Given the description of an element on the screen output the (x, y) to click on. 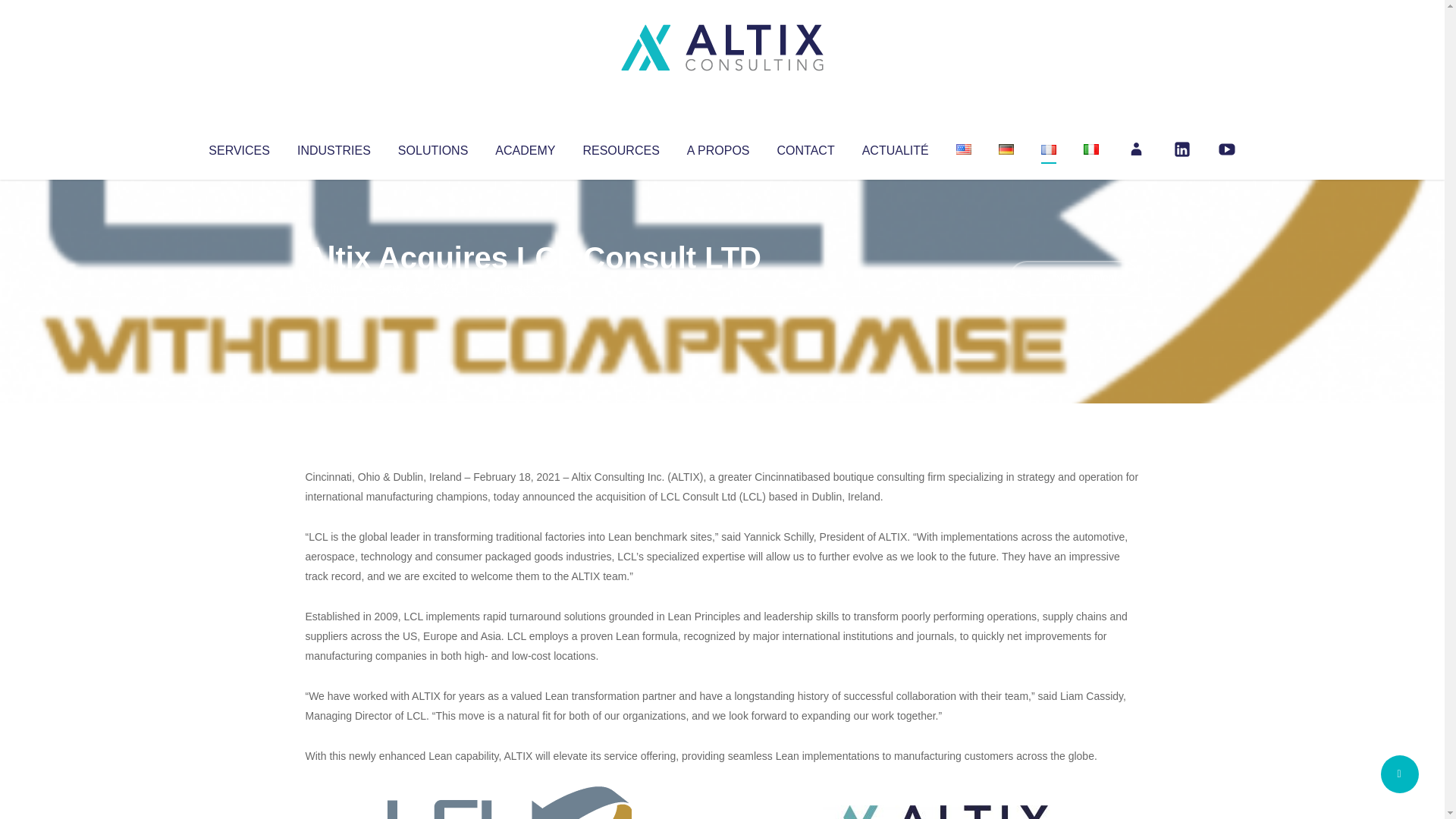
No Comments (1073, 278)
RESOURCES (620, 146)
INDUSTRIES (334, 146)
SERVICES (238, 146)
A PROPOS (718, 146)
SOLUTIONS (432, 146)
Articles par Altix (333, 287)
ACADEMY (524, 146)
Altix (333, 287)
Uncategorized (530, 287)
